Given the description of an element on the screen output the (x, y) to click on. 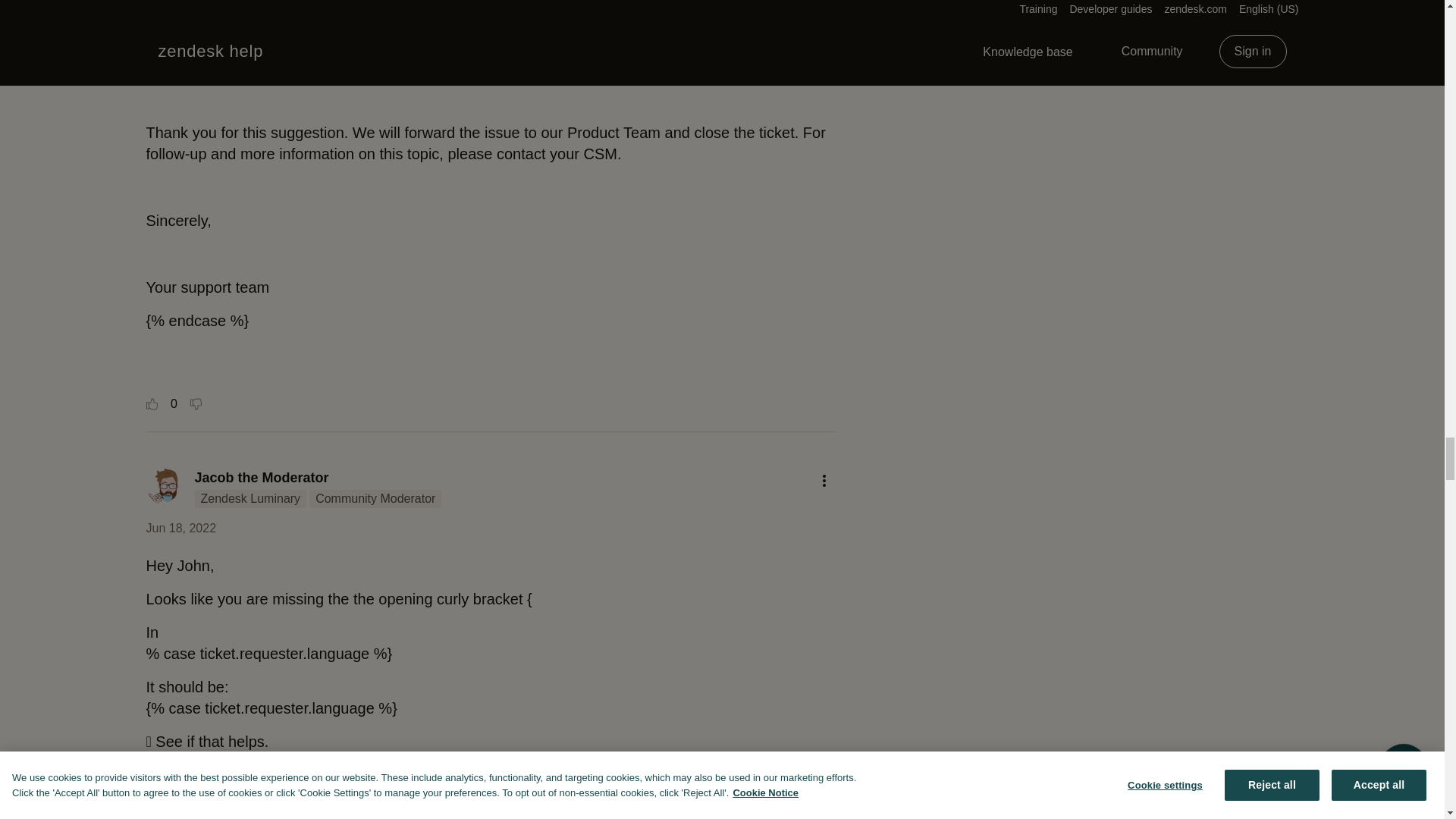
This user is a member of the Zendesk Luminaries program (249, 498)
